Given the description of an element on the screen output the (x, y) to click on. 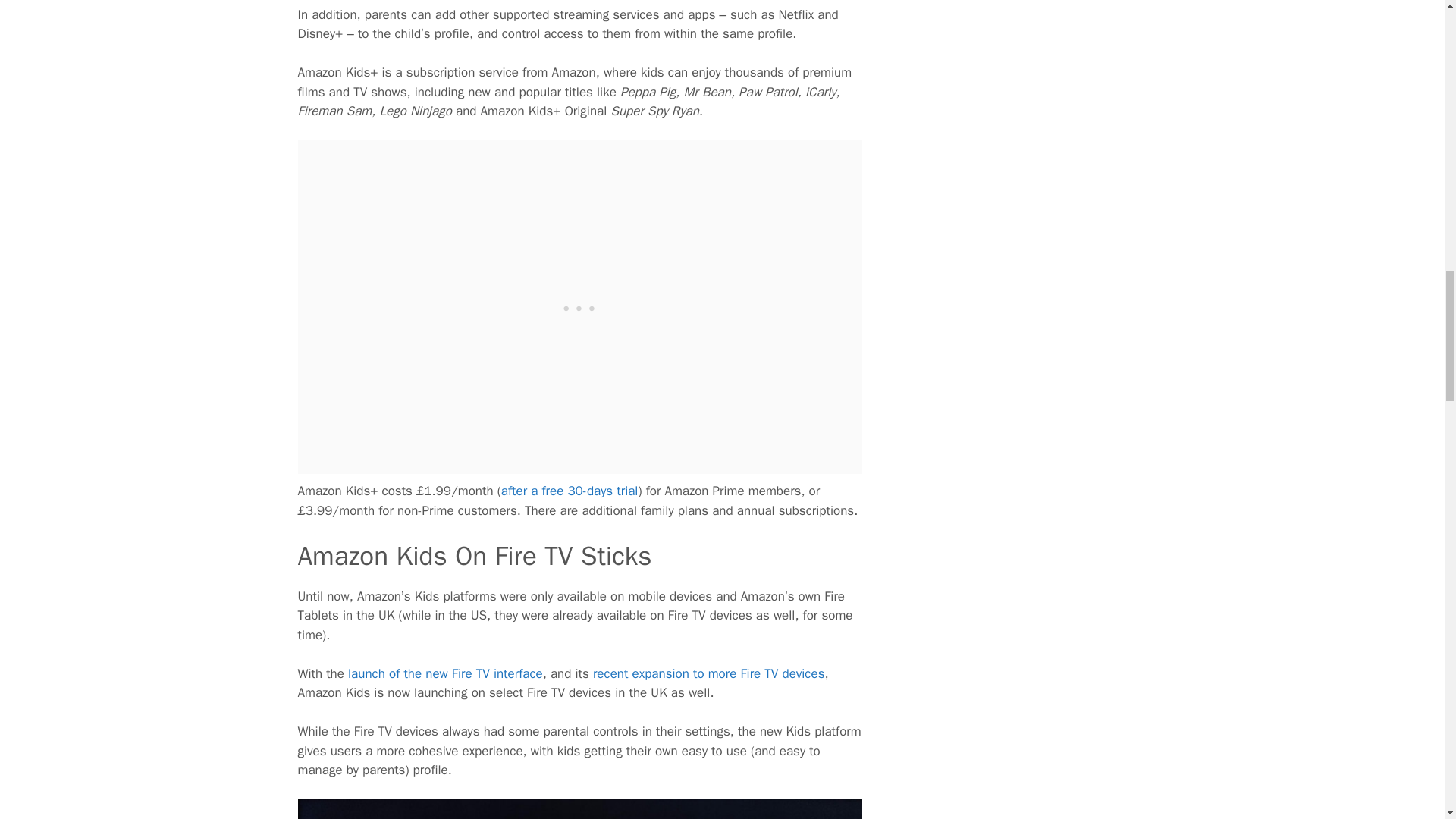
launch of the new Fire TV interface (445, 673)
recent expansion to more Fire TV devices (708, 673)
after a free 30-days trial (569, 490)
